Given the description of an element on the screen output the (x, y) to click on. 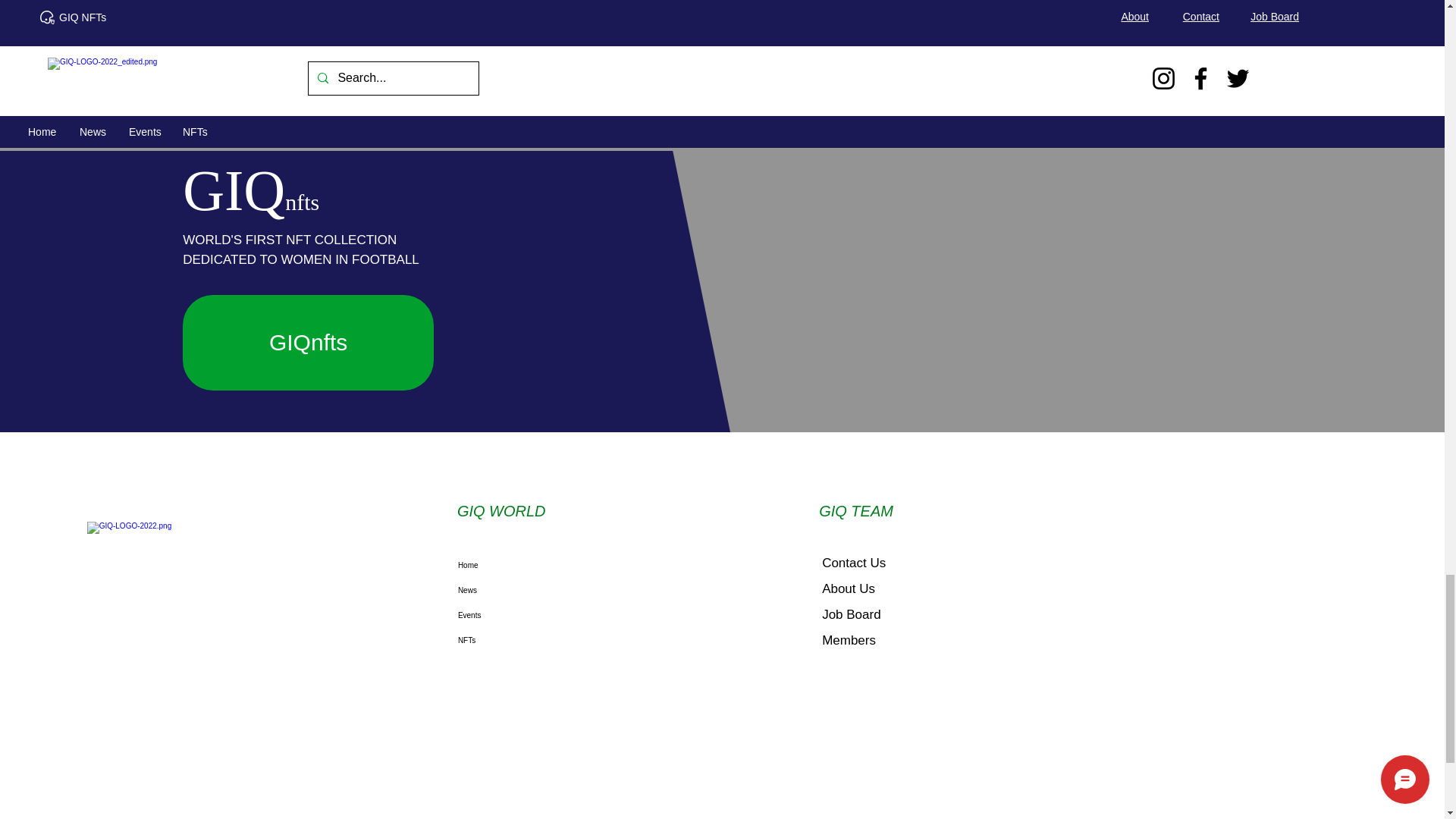
About Us (848, 588)
News (541, 590)
Members (849, 640)
Contact Us (853, 563)
GIQnfts (308, 342)
NFTs (541, 640)
Events (541, 615)
Home (541, 565)
Job Board (851, 614)
